Given the description of an element on the screen output the (x, y) to click on. 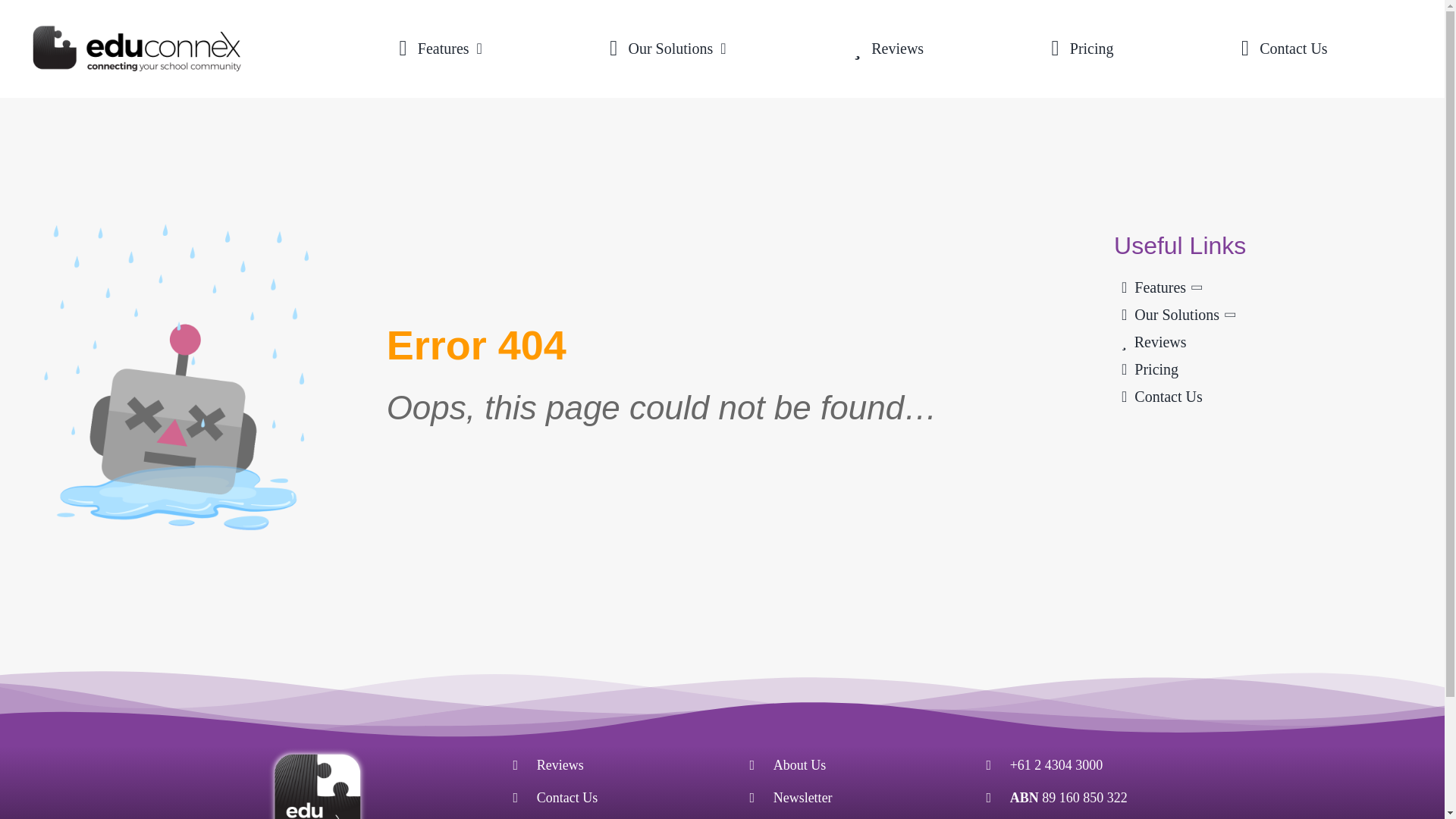
Our Solutions (661, 48)
Contact Us (567, 797)
Pricing (1077, 48)
Features (434, 49)
Submit (716, 595)
Our Solutions (1267, 314)
About Us (800, 765)
Newsletter (802, 797)
Pricing (1267, 369)
Contact Us (1278, 48)
